Given the description of an element on the screen output the (x, y) to click on. 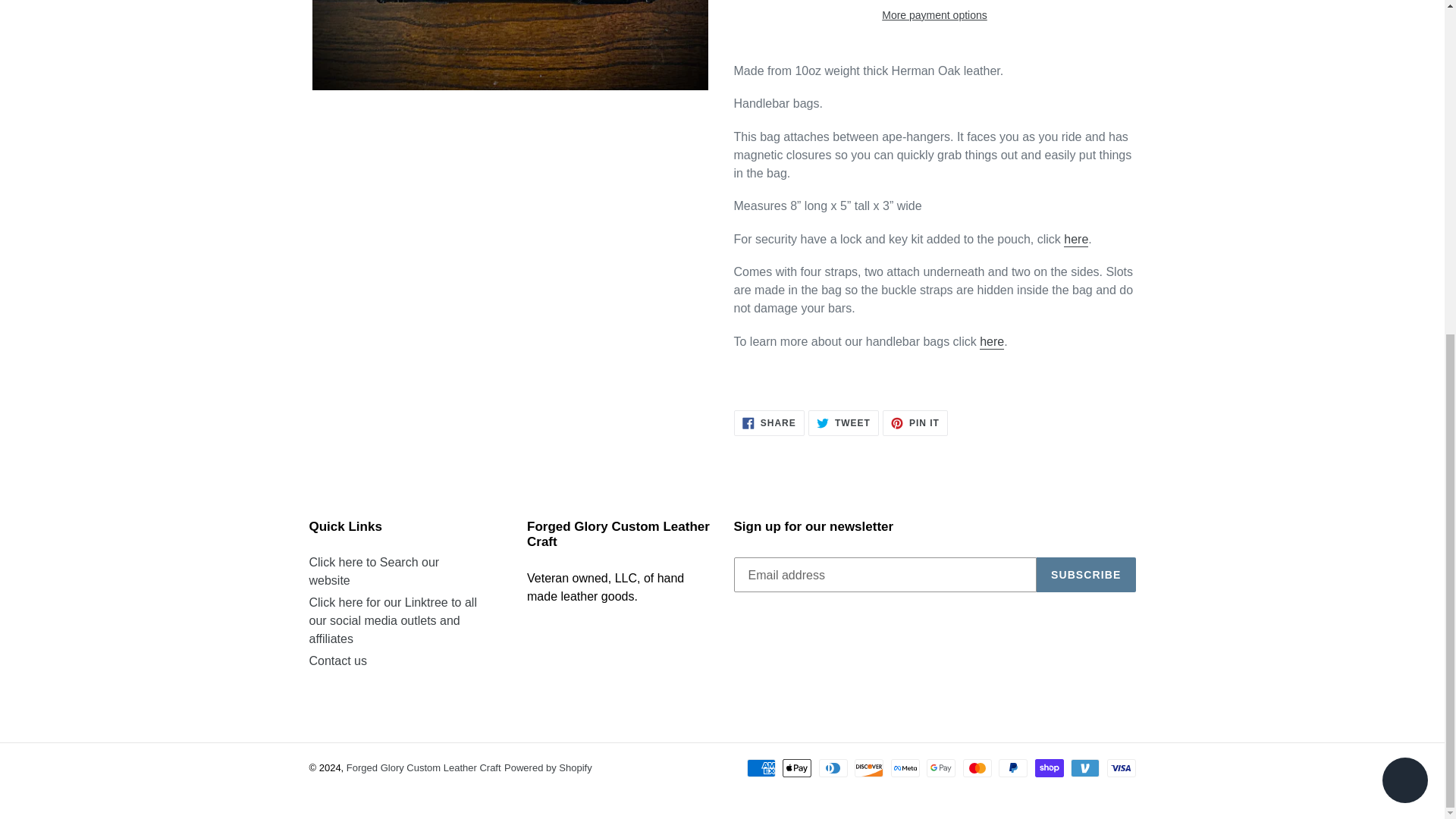
Handlebar Bags (991, 341)
Shopify online store chat (1404, 223)
Lock and key kit (1075, 239)
